Given the description of an element on the screen output the (x, y) to click on. 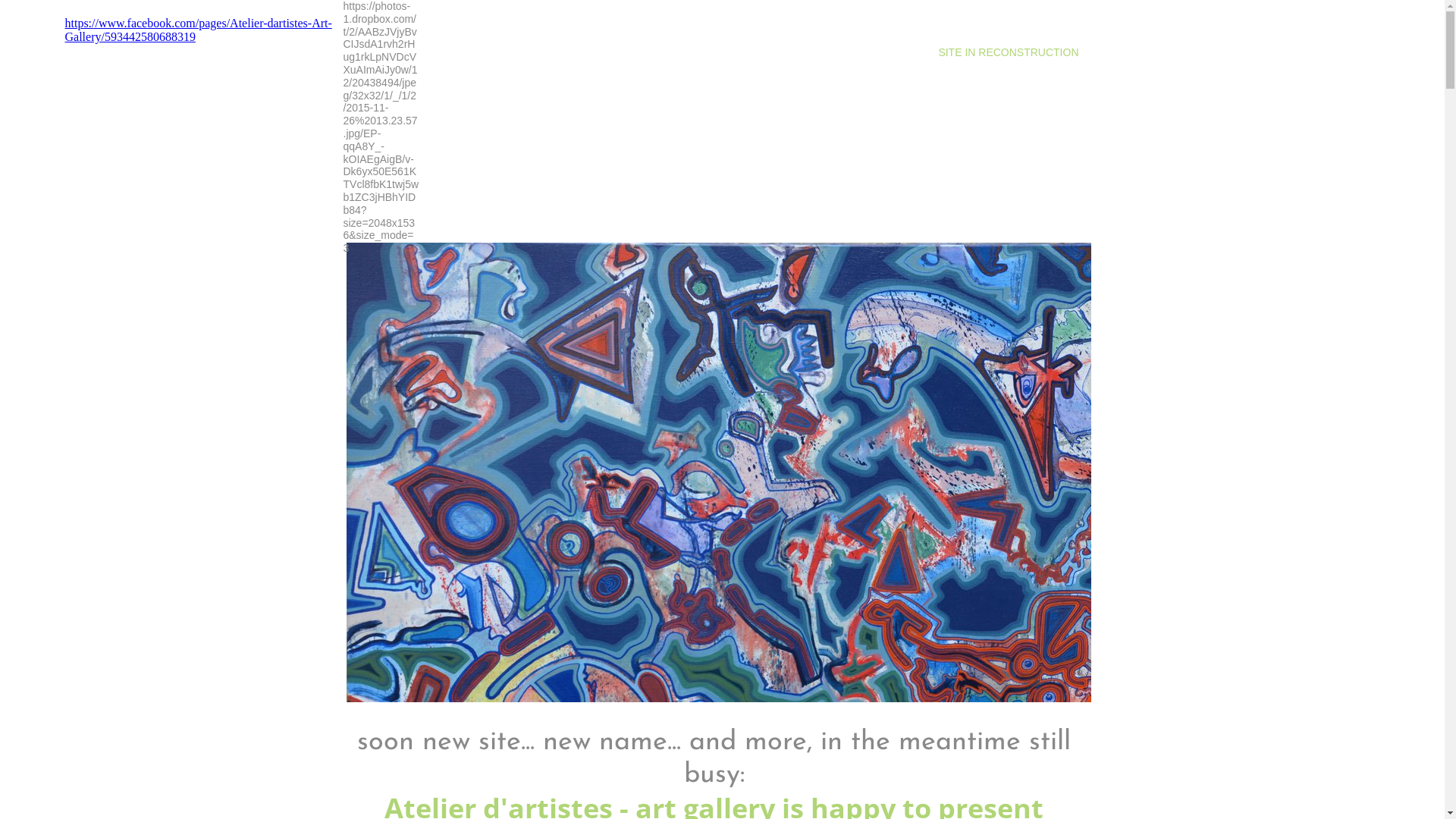
SITE IN RECONSTRUCTION Element type: text (1008, 51)
Read reviews on Tripadvisor  Element type: hover (207, 137)
